Given the description of an element on the screen output the (x, y) to click on. 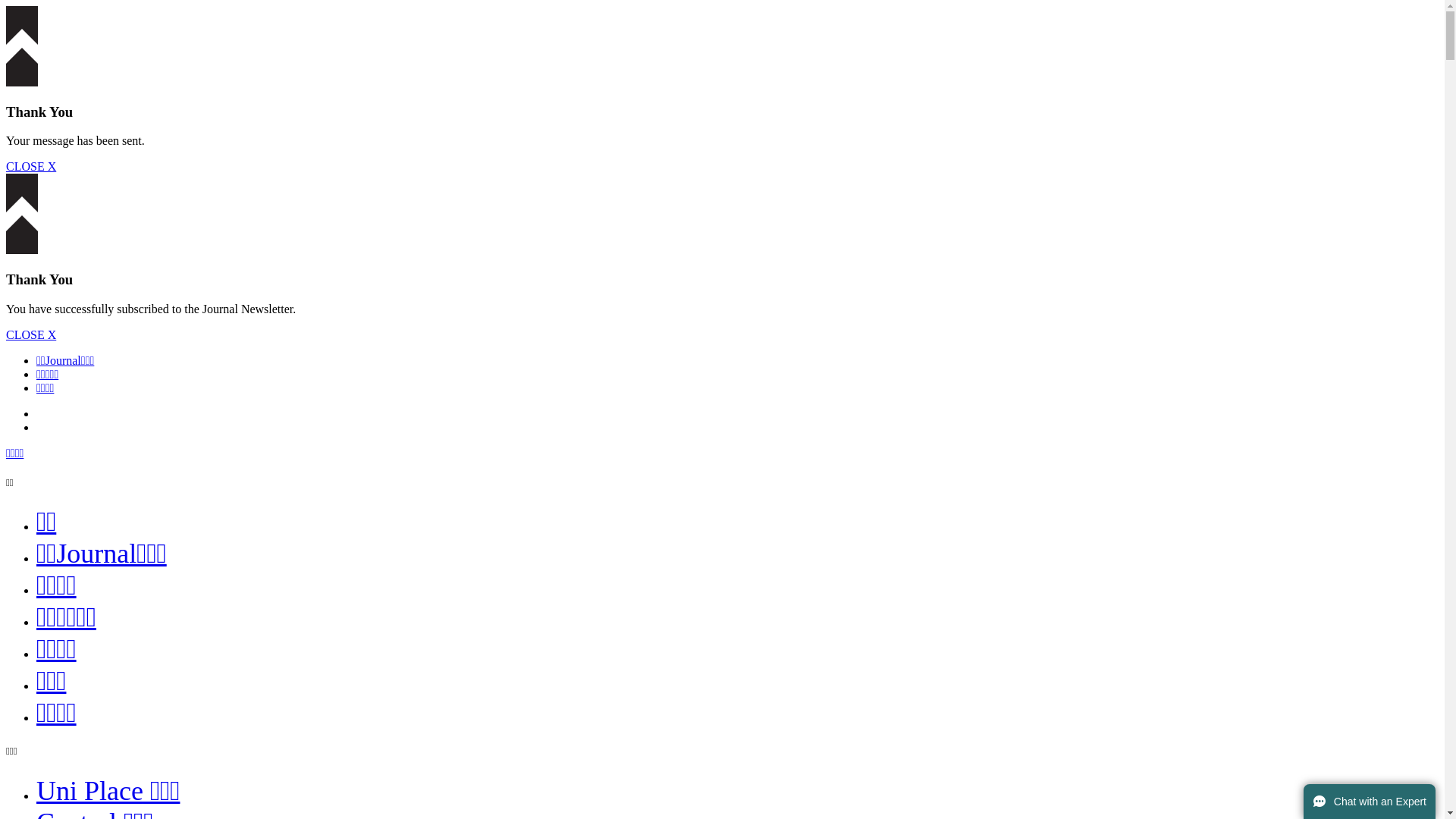
CLOSE X Element type: text (31, 166)
CLOSE X Element type: text (31, 334)
